Given the description of an element on the screen output the (x, y) to click on. 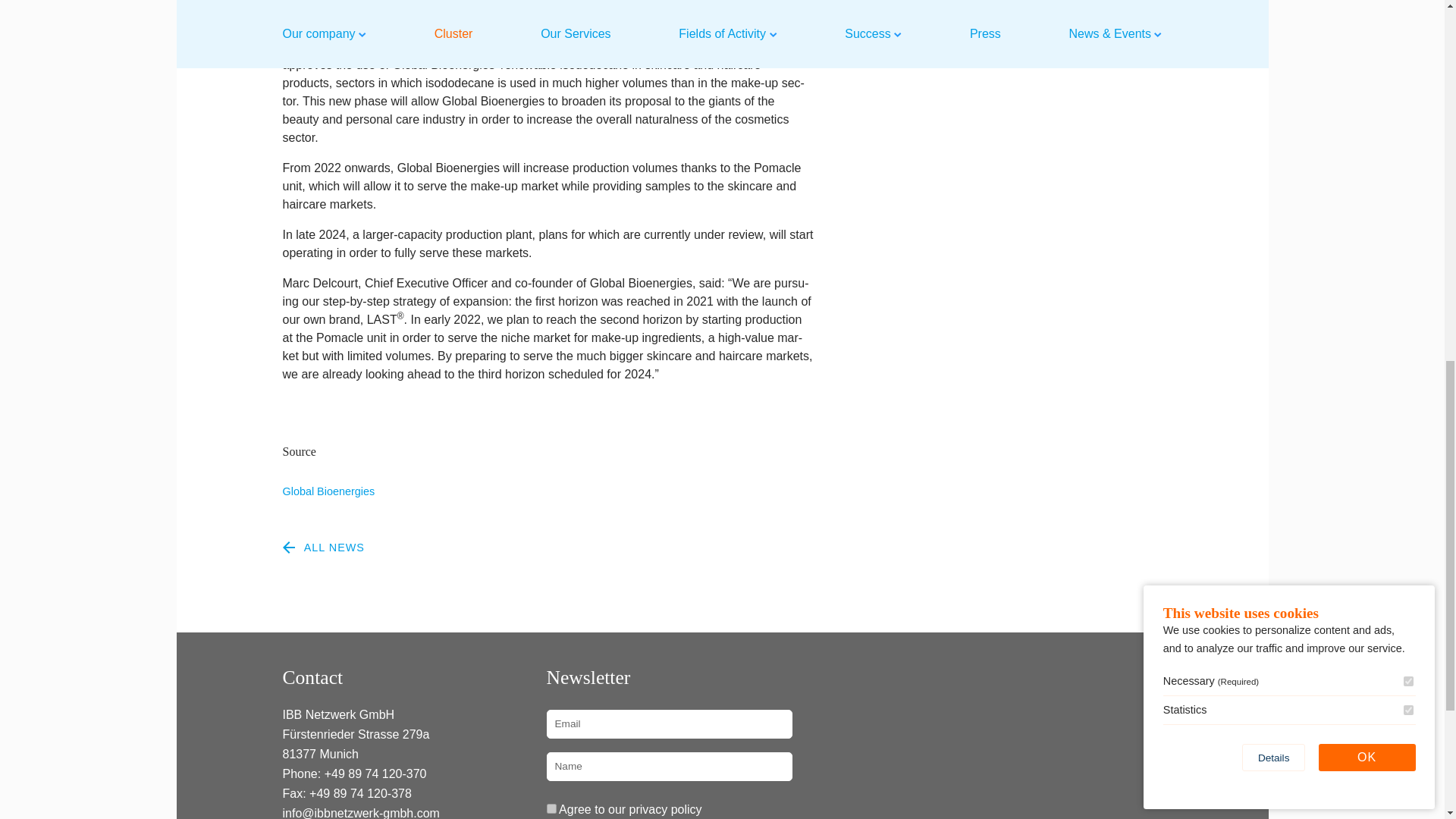
1 (551, 808)
